Given the description of an element on the screen output the (x, y) to click on. 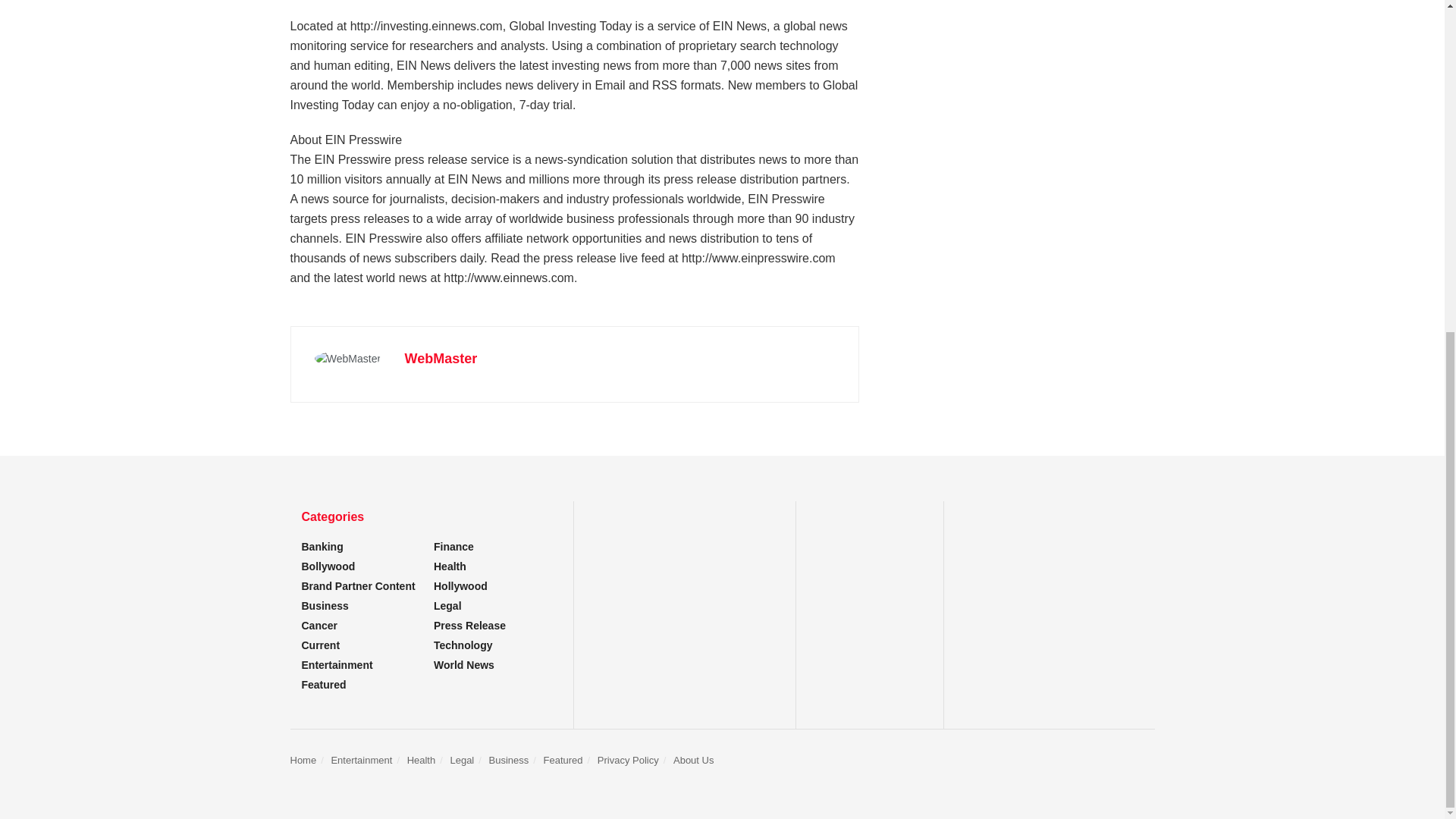
Banking (322, 546)
WebMaster (440, 358)
Bollywood (328, 566)
